Given the description of an element on the screen output the (x, y) to click on. 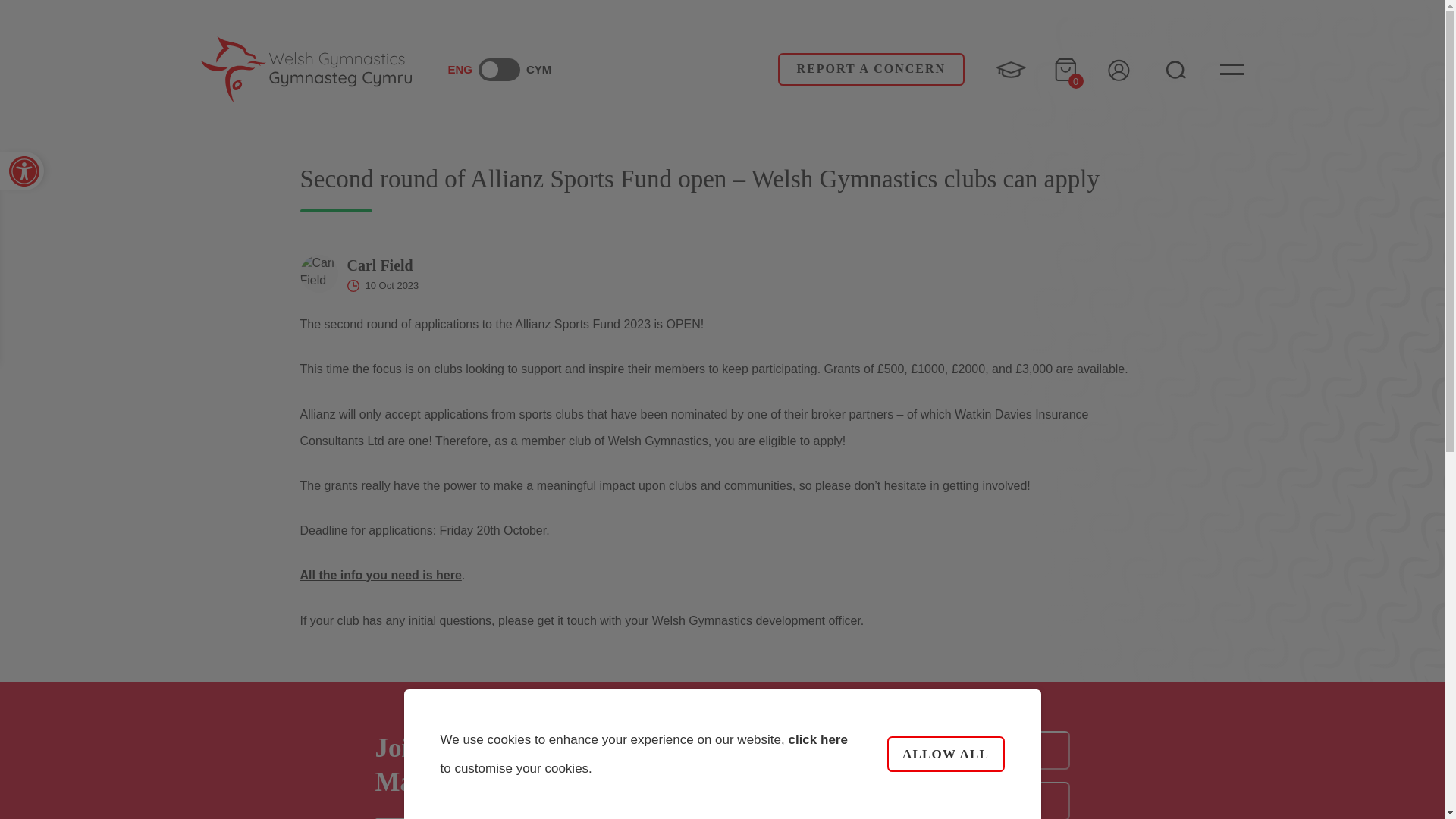
View your shopping cart (1064, 69)
Accessibility (21, 170)
